Given the description of an element on the screen output the (x, y) to click on. 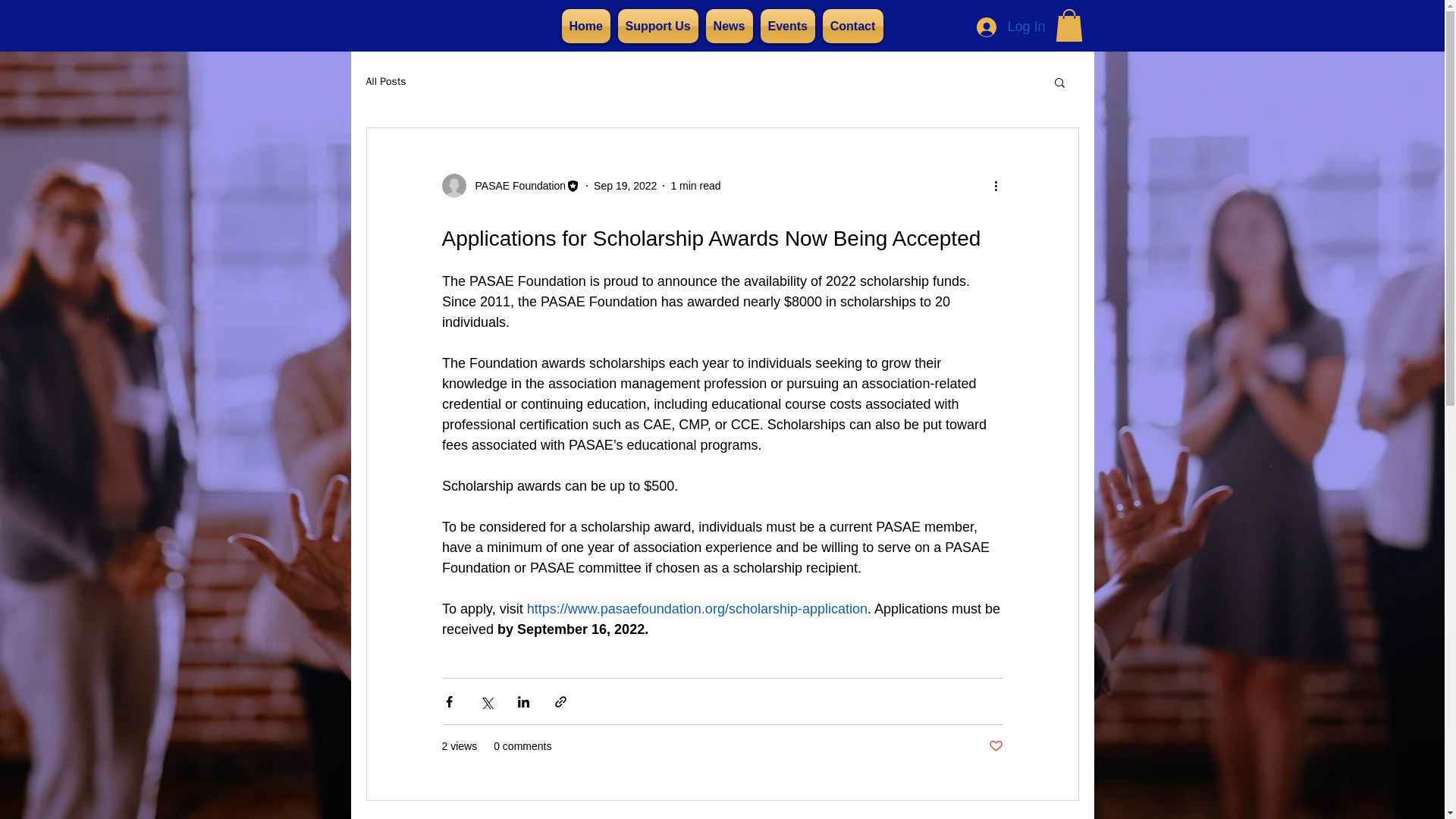
PASAE Foundation (515, 186)
1 min read (694, 185)
All Posts (385, 81)
Sep 19, 2022 (625, 185)
PASAE Foundation (510, 185)
Events (787, 26)
Contact (852, 26)
News (729, 26)
Post not marked as liked (995, 746)
Log In (1010, 26)
Support Us (657, 26)
Home (585, 26)
